Given the description of an element on the screen output the (x, y) to click on. 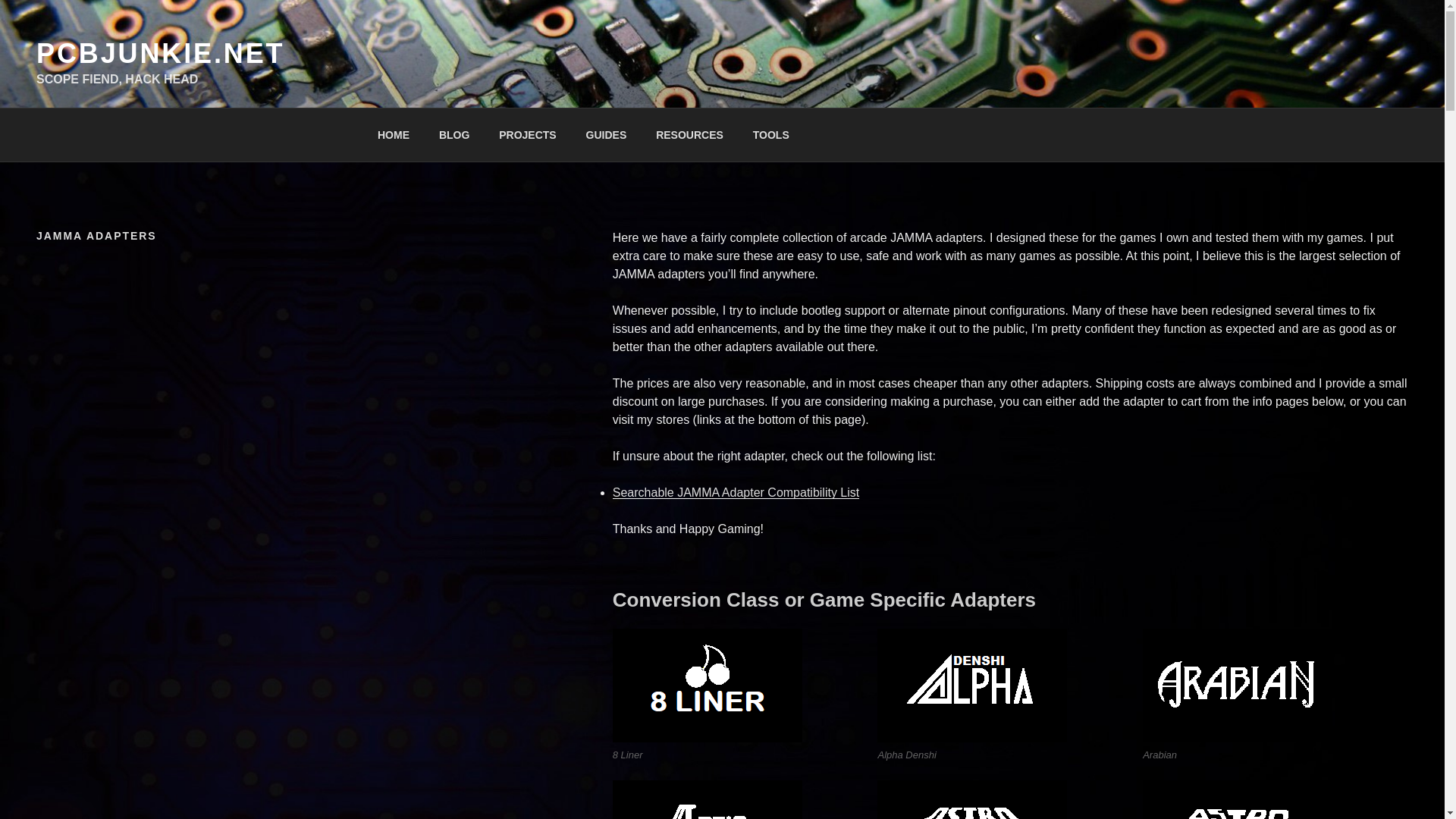
RESOURCES (689, 135)
BLOG (453, 135)
HOME (393, 135)
PCBJUNKIE.NET (159, 52)
GUIDES (606, 135)
TOOLS (770, 135)
PROJECTS (527, 135)
Searchable JAMMA Adapter Compatibility List (735, 492)
